Given the description of an element on the screen output the (x, y) to click on. 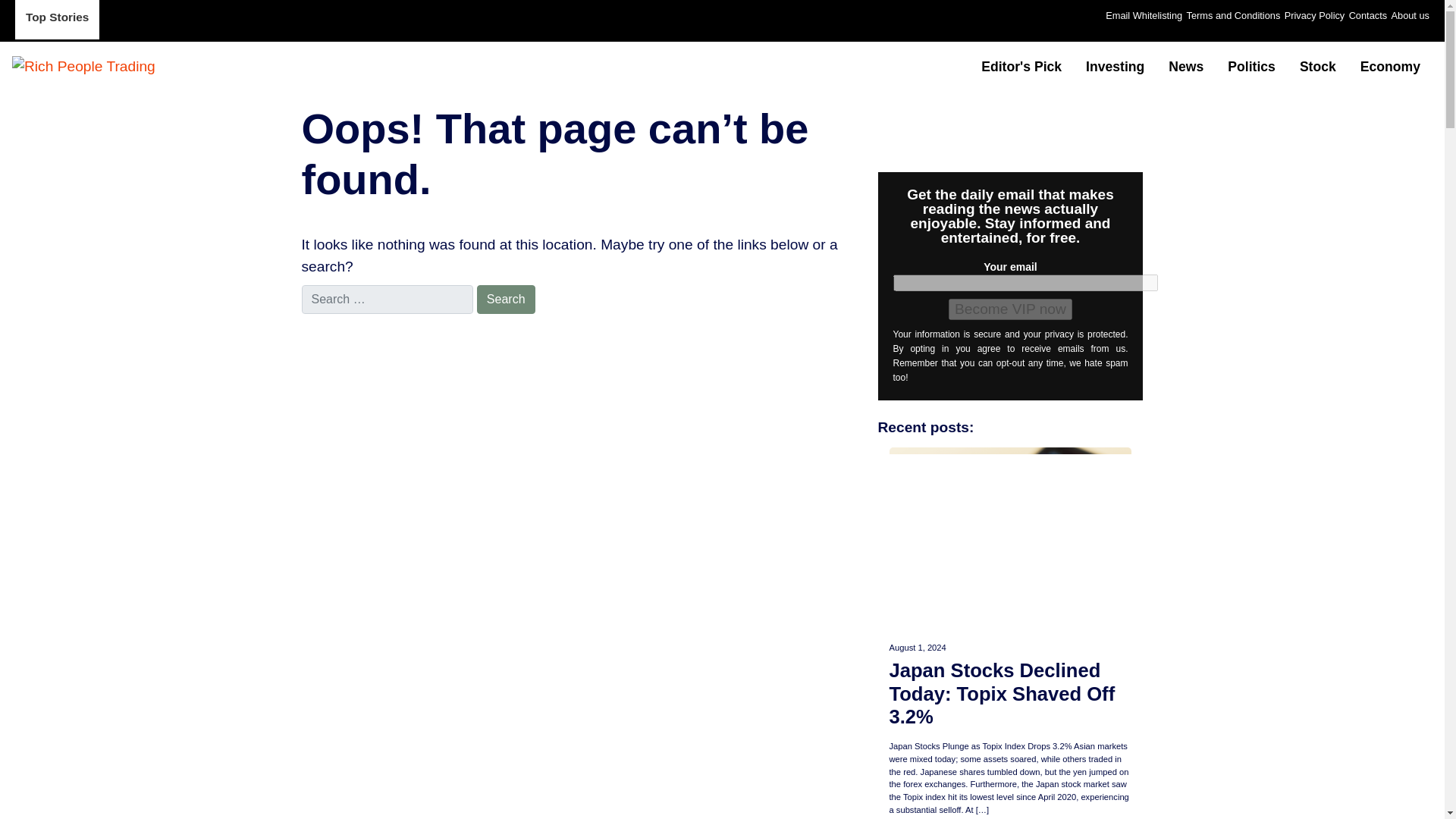
Politics (1251, 66)
Editor's Pick (1021, 66)
Economy (1390, 66)
Editor's Pick (1021, 66)
News (1185, 66)
Politics (1251, 66)
Contacts (1368, 15)
Investing (1115, 66)
Search for: (387, 299)
Investing (1115, 66)
Economy (1390, 66)
Search (506, 299)
Stock (1317, 66)
Search (506, 299)
Email Whitelisting (1143, 15)
